Given the description of an element on the screen output the (x, y) to click on. 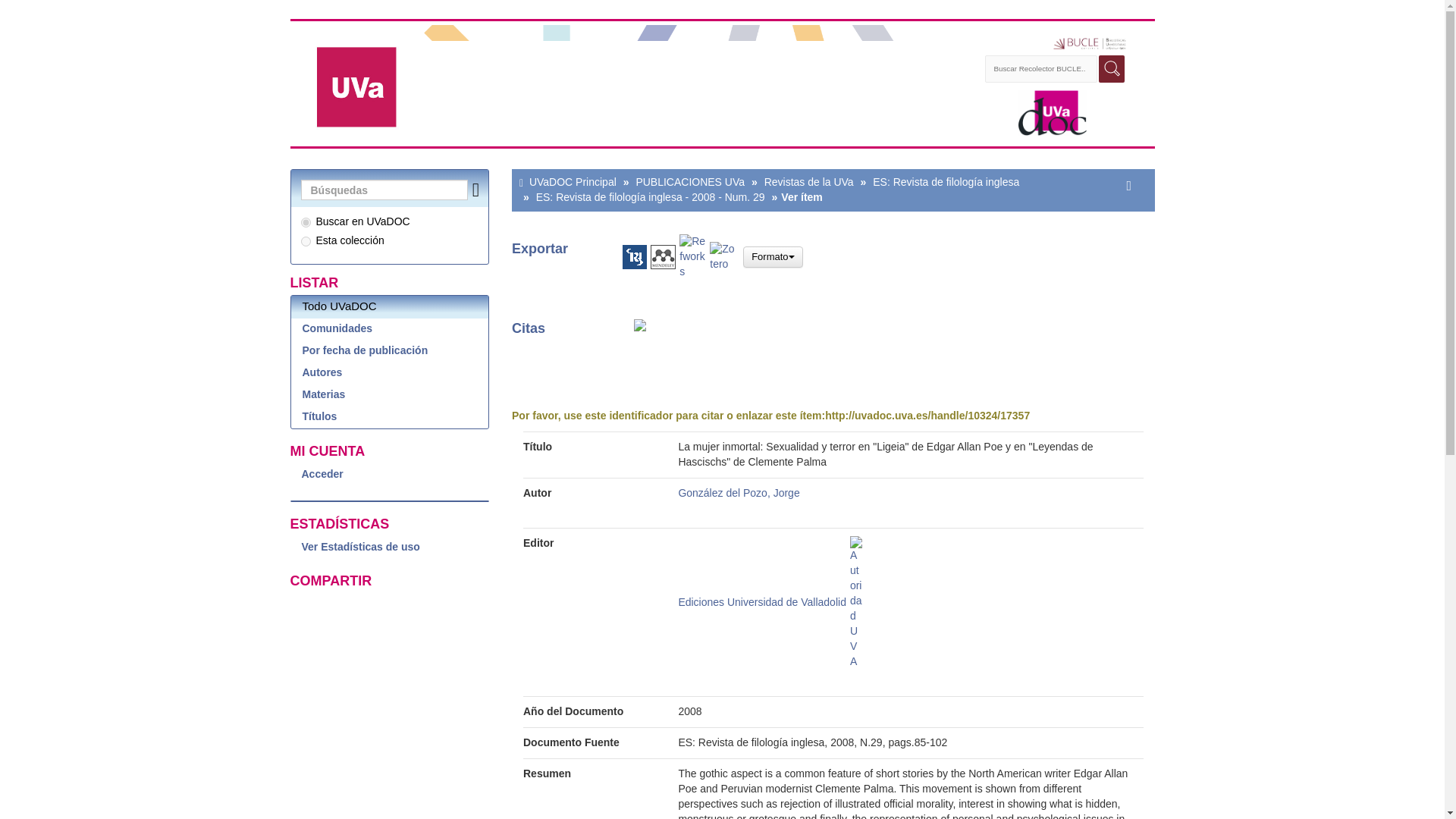
Comunidades (390, 328)
Autores (390, 372)
Refworks (694, 256)
Materias (390, 395)
RIS (634, 256)
Mendeley (662, 256)
Todo UVaDOC (390, 306)
